Given the description of an element on the screen output the (x, y) to click on. 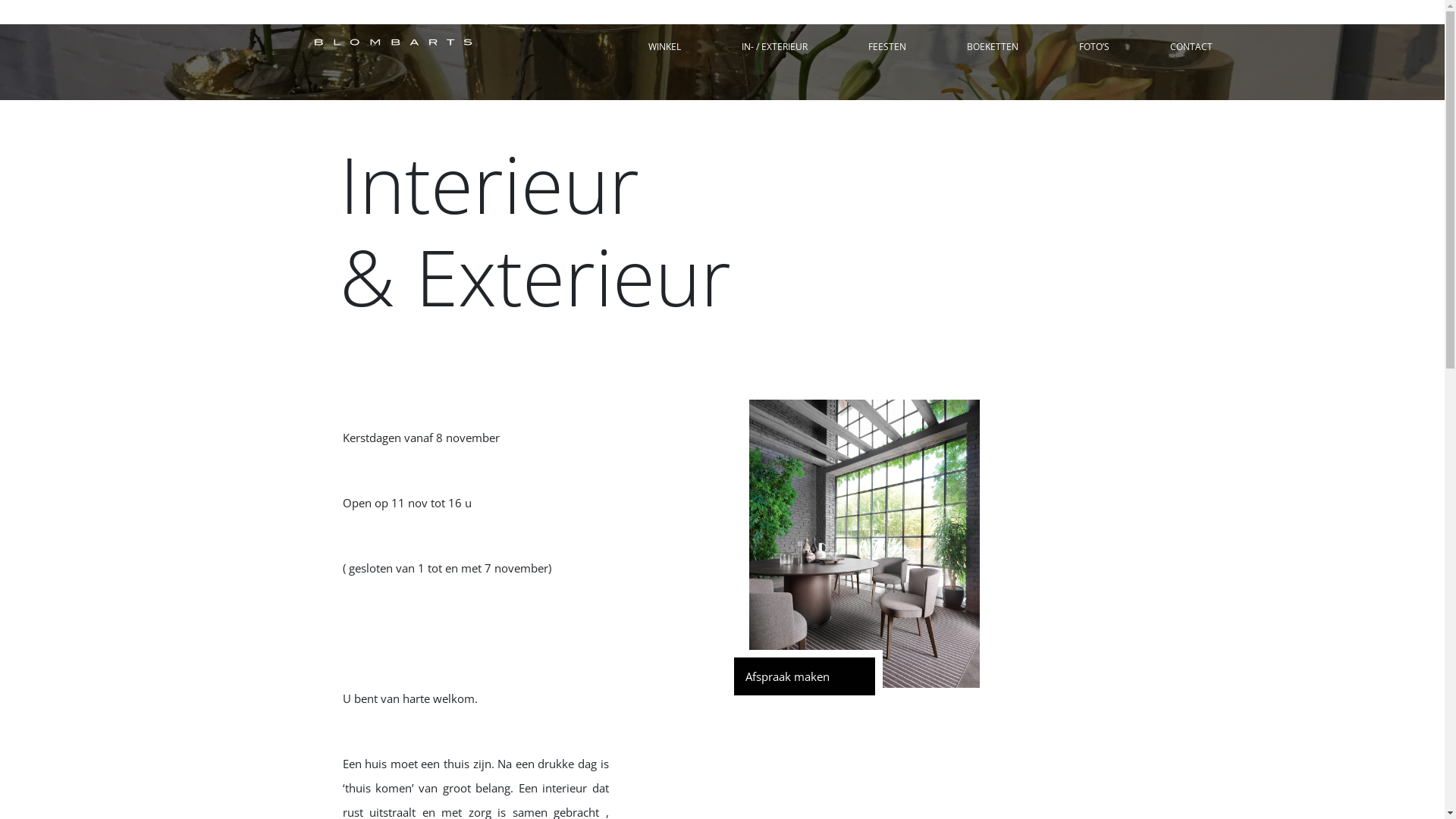
IN- / EXTERIEUR Element type: text (774, 47)
WINKEL Element type: text (663, 47)
CONTACT Element type: text (1190, 47)
Afspraak maken Element type: text (804, 675)
BOEKETTEN Element type: text (991, 47)
FEESTEN Element type: text (886, 47)
